Given the description of an element on the screen output the (x, y) to click on. 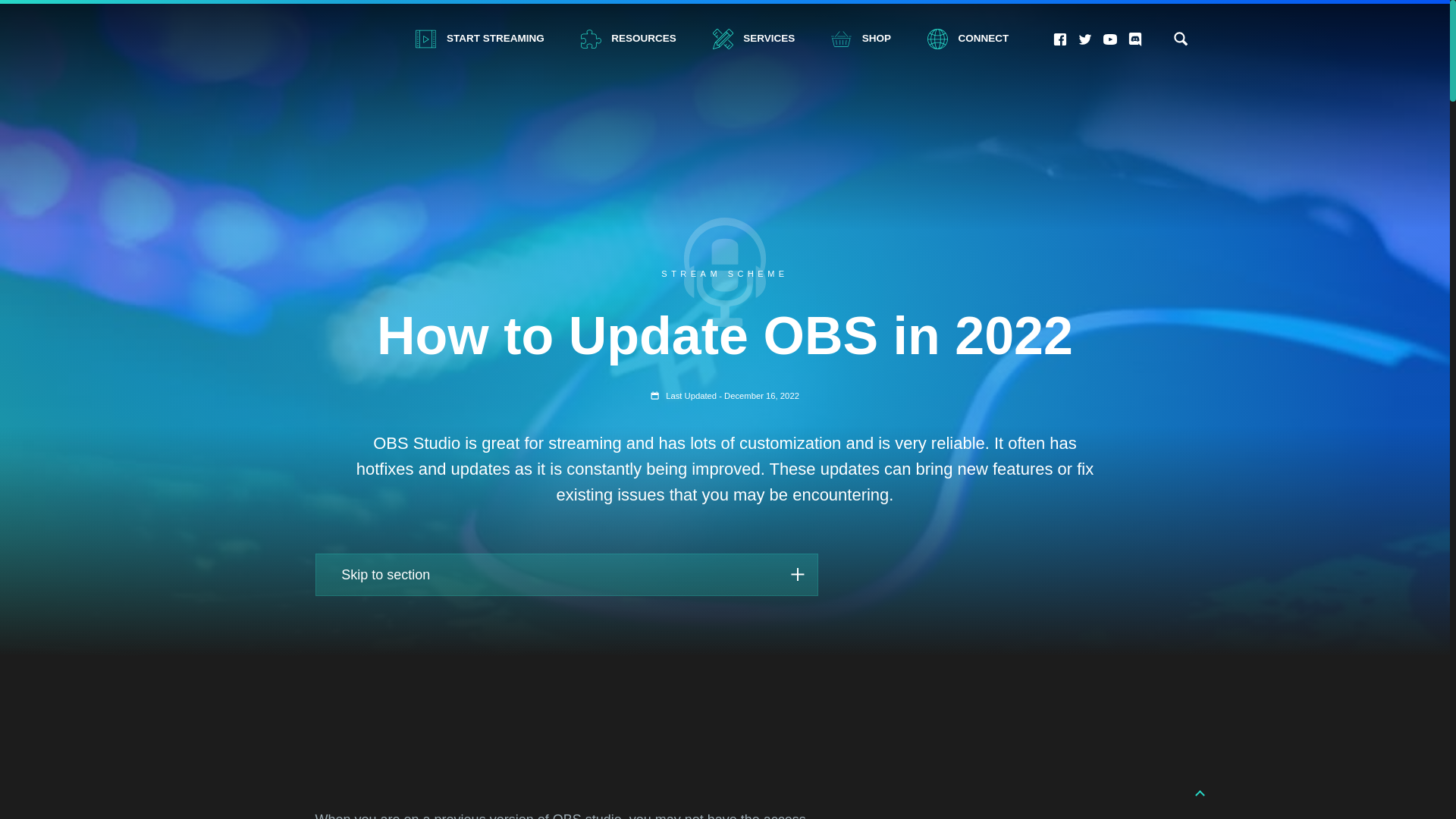
YOUTUBE (1109, 38)
GLOBAL (937, 38)
BASKET SHOP (861, 39)
Skip to section (565, 574)
YOUTUBE (1109, 38)
FACEBOOK1 (1180, 38)
PUZZLE RESOURCES (1059, 38)
TOOLS (627, 39)
PUZZLE (723, 38)
GLOBAL CONNECT (590, 38)
BASKET (967, 39)
calendar1 (841, 38)
TWITTER1 (654, 395)
VIDEO START STREAMING (1085, 38)
